Given the description of an element on the screen output the (x, y) to click on. 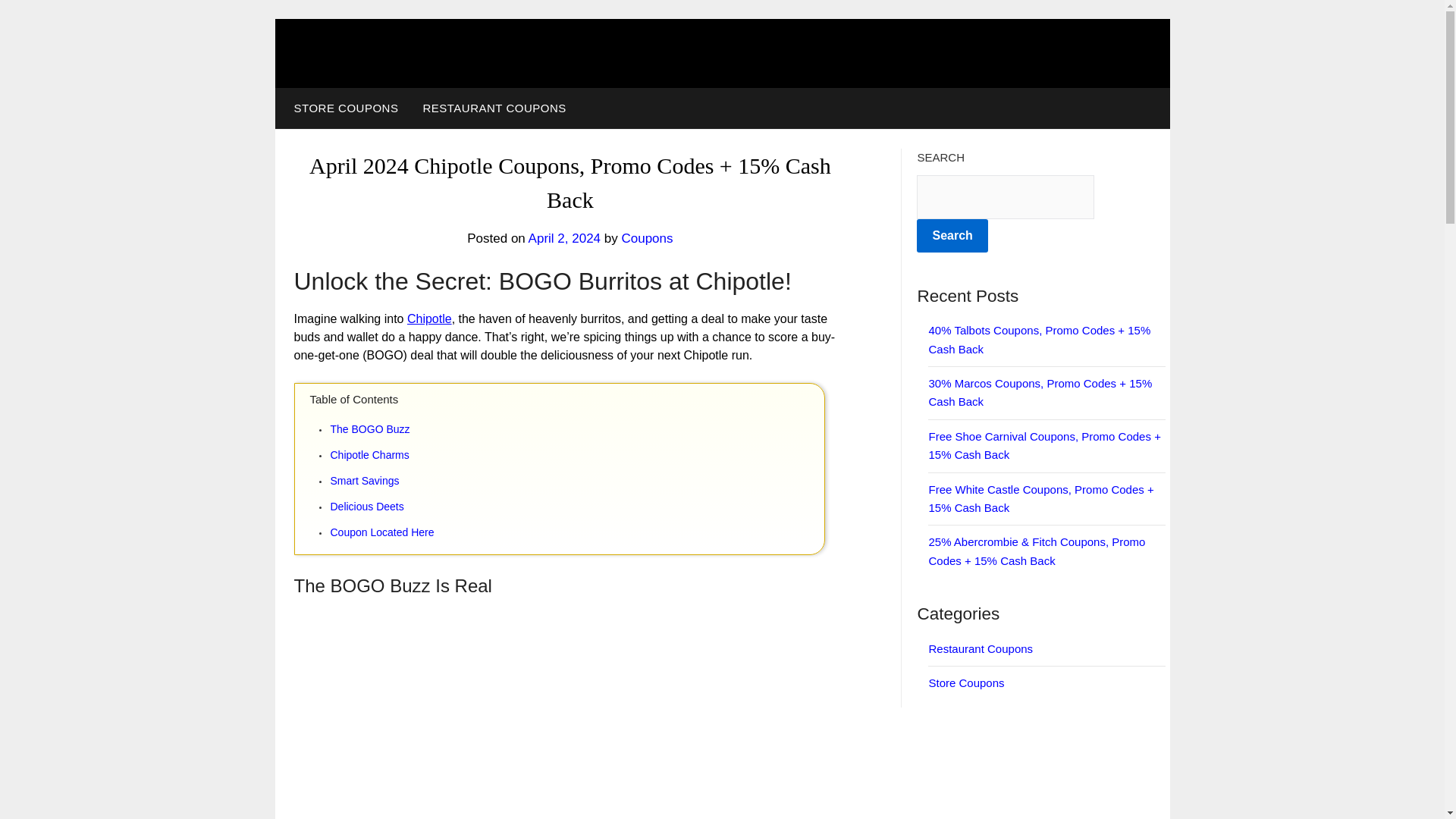
Store Coupons (966, 682)
STORE COUPONS (342, 107)
Delicious Deets (576, 506)
Search (952, 235)
Coupons (646, 237)
Coupon Located Here (576, 531)
RESTAURANT COUPONS (494, 107)
Restaurant Coupons (980, 648)
Chipotle (429, 318)
Smart Savings (576, 480)
